Given the description of an element on the screen output the (x, y) to click on. 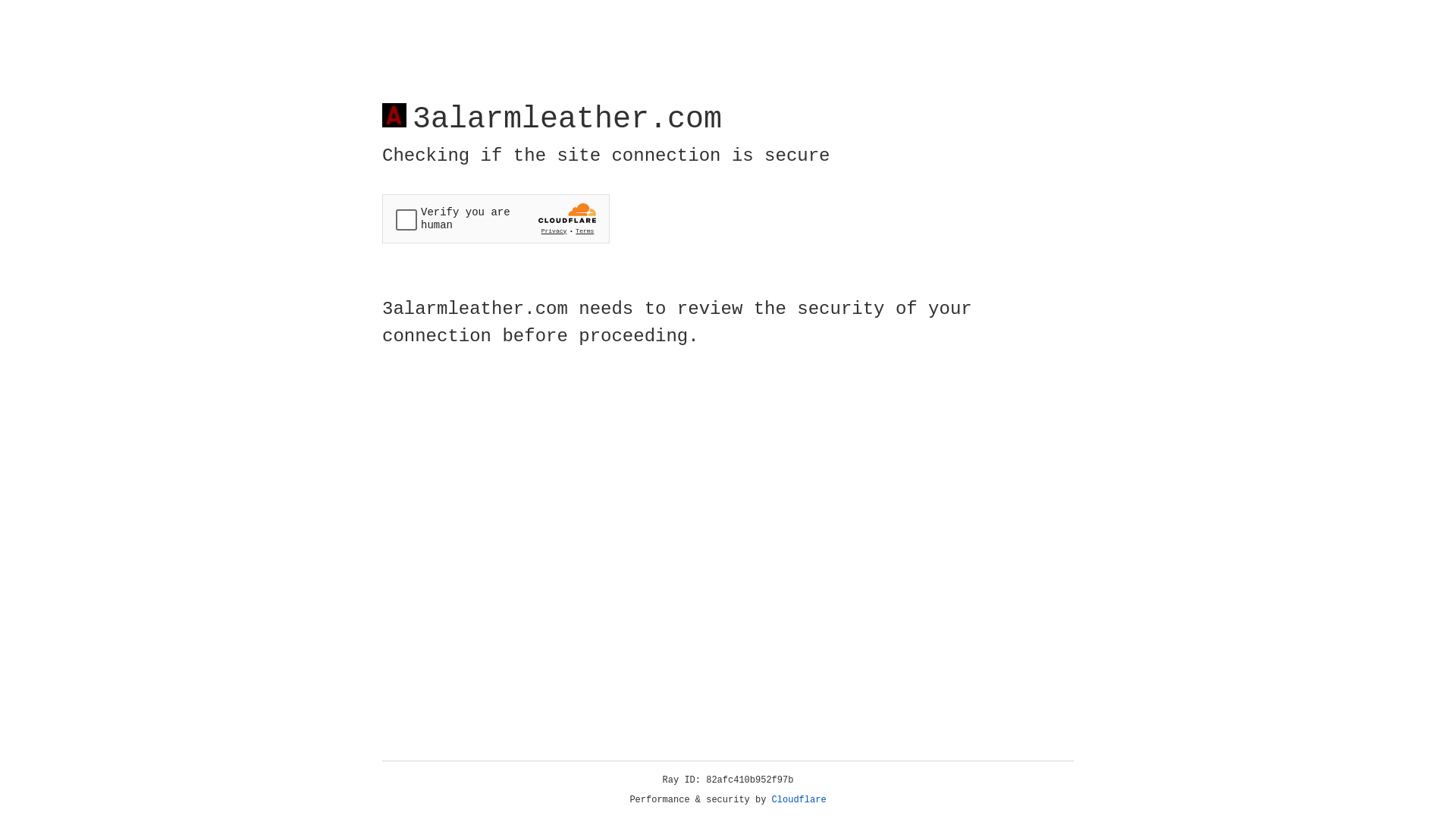
Widget containing a Cloudflare security challenge Element type: hover (495, 218)
Cloudflare Element type: text (798, 799)
